Given the description of an element on the screen output the (x, y) to click on. 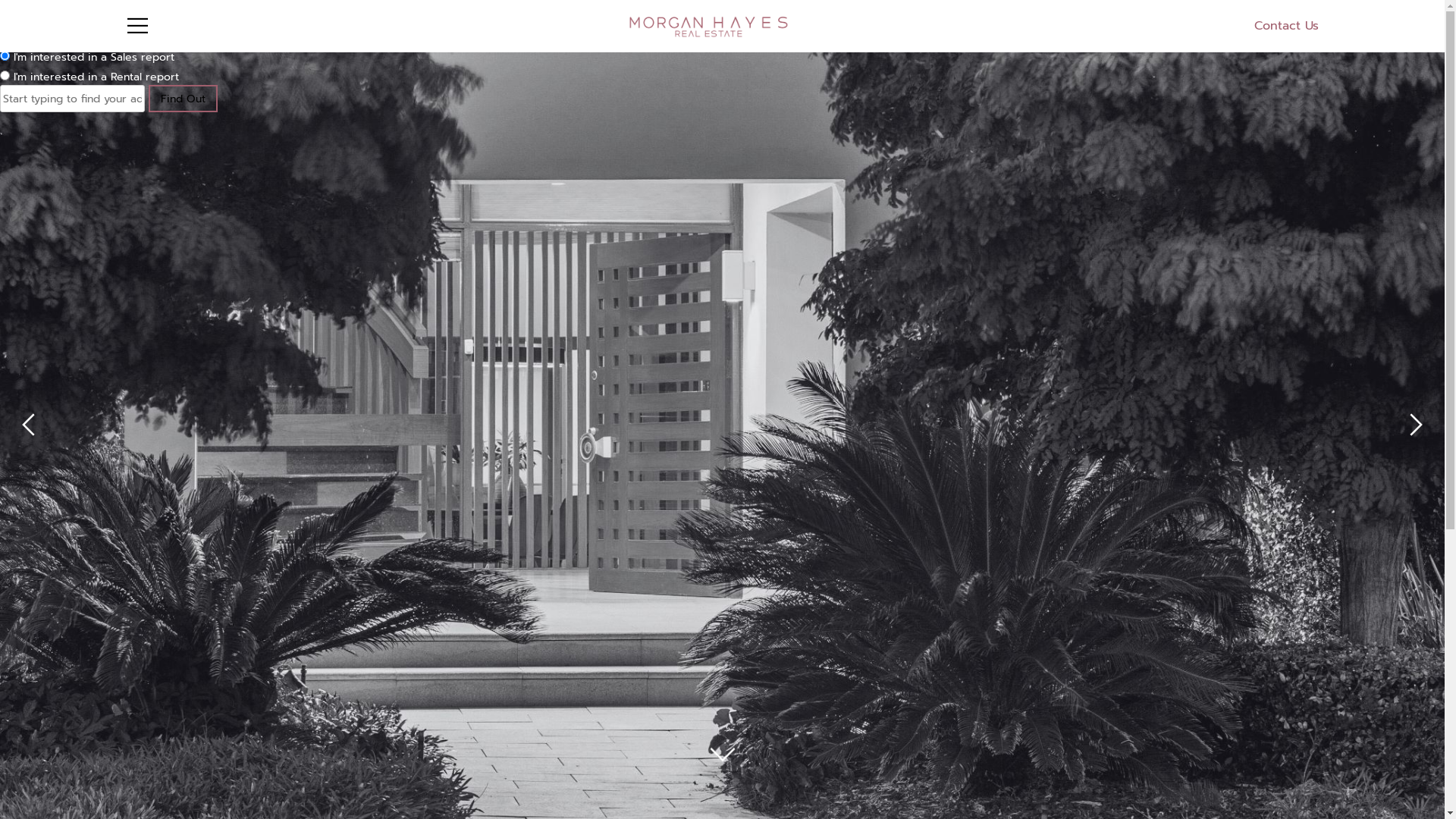
Contact Us Element type: text (1286, 25)
Find Out Element type: text (182, 98)
